Given the description of an element on the screen output the (x, y) to click on. 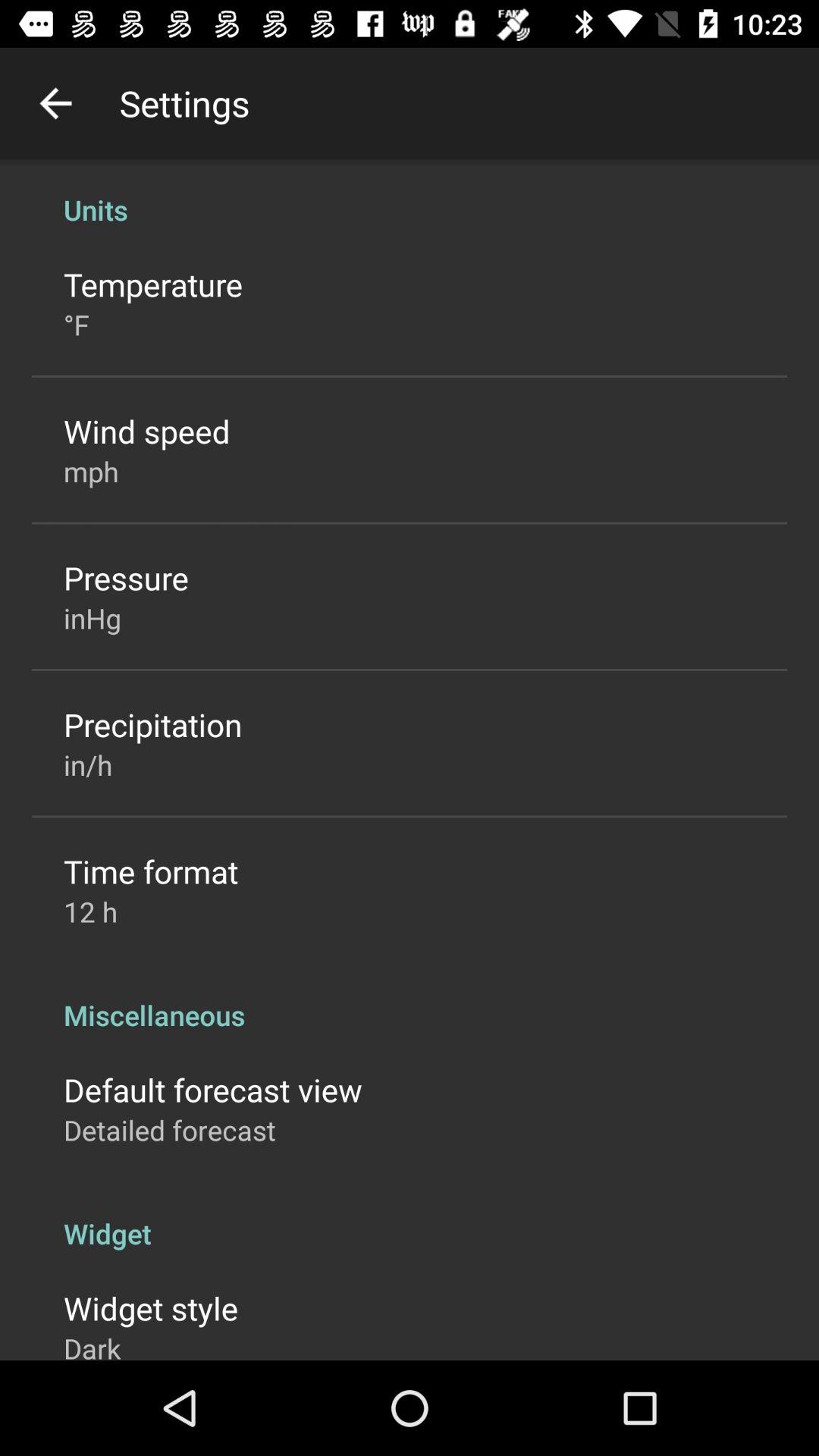
launch item below in/h (150, 870)
